Given the description of an element on the screen output the (x, y) to click on. 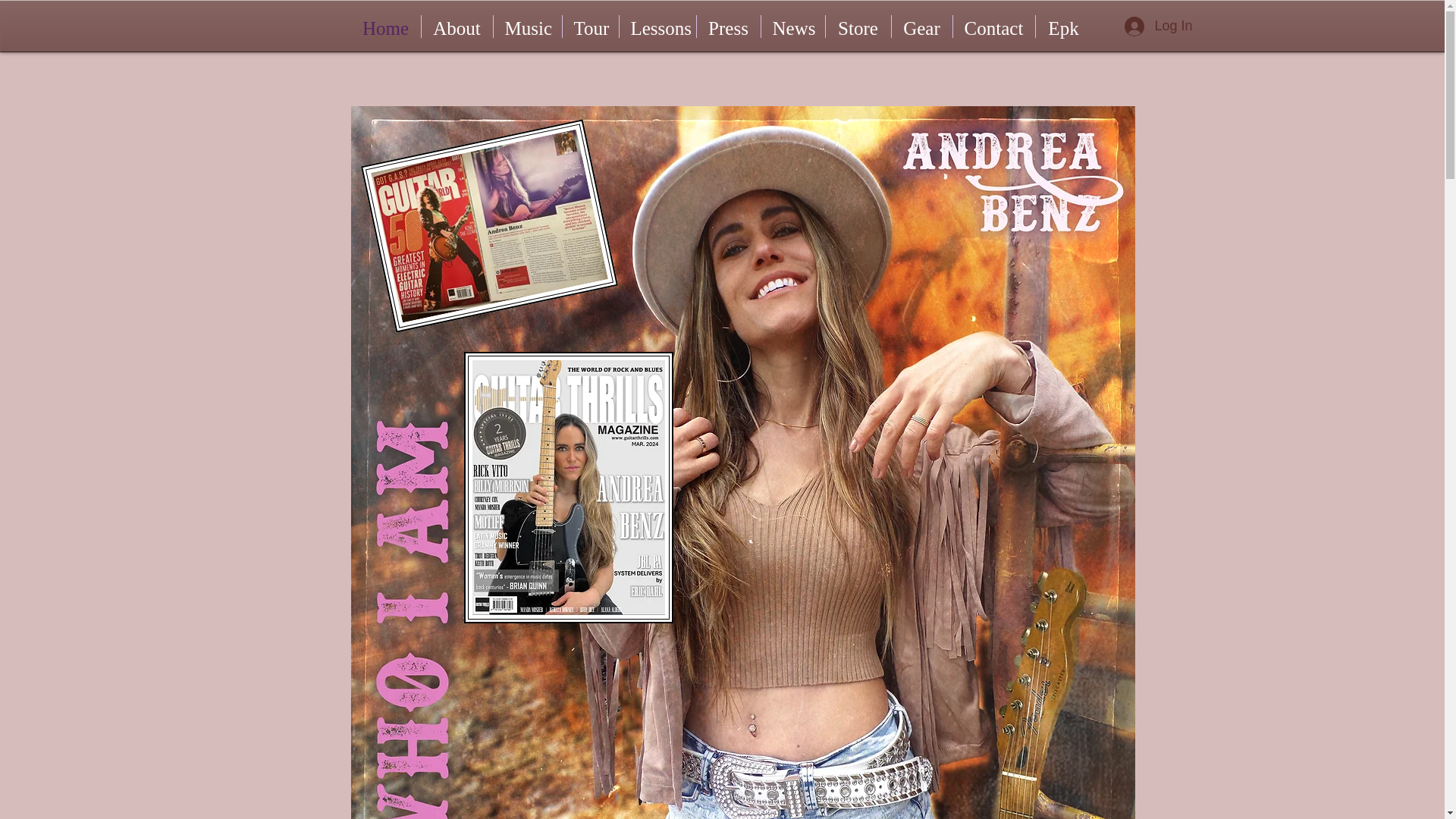
Epk (1063, 26)
Music (526, 26)
Tour (590, 26)
Log In (1143, 26)
Contact (992, 26)
Store (857, 26)
Gear (921, 26)
News (793, 26)
Press (727, 26)
Home (385, 26)
